Given the description of an element on the screen output the (x, y) to click on. 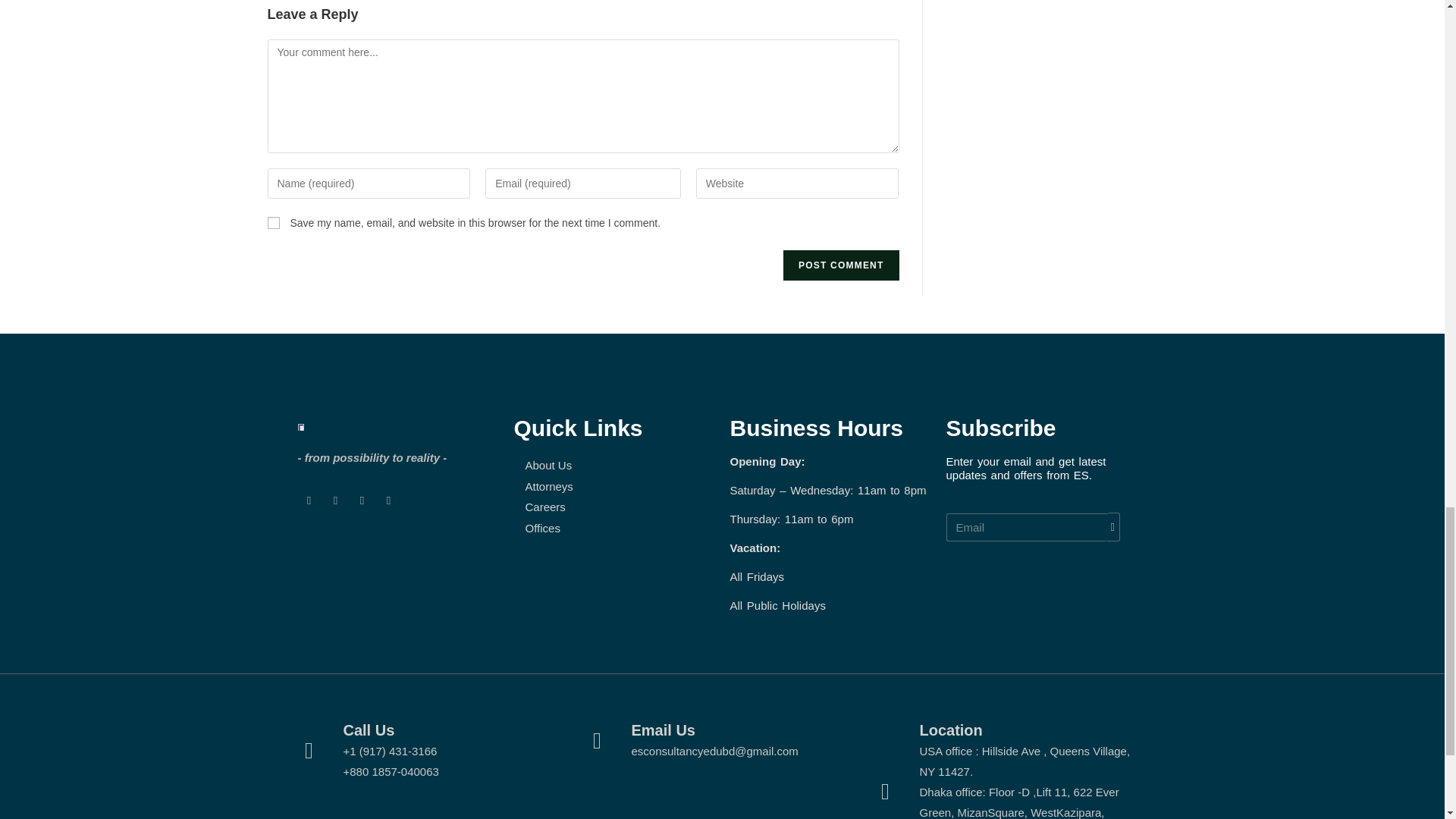
Post Comment (840, 265)
yes (272, 223)
